Given the description of an element on the screen output the (x, y) to click on. 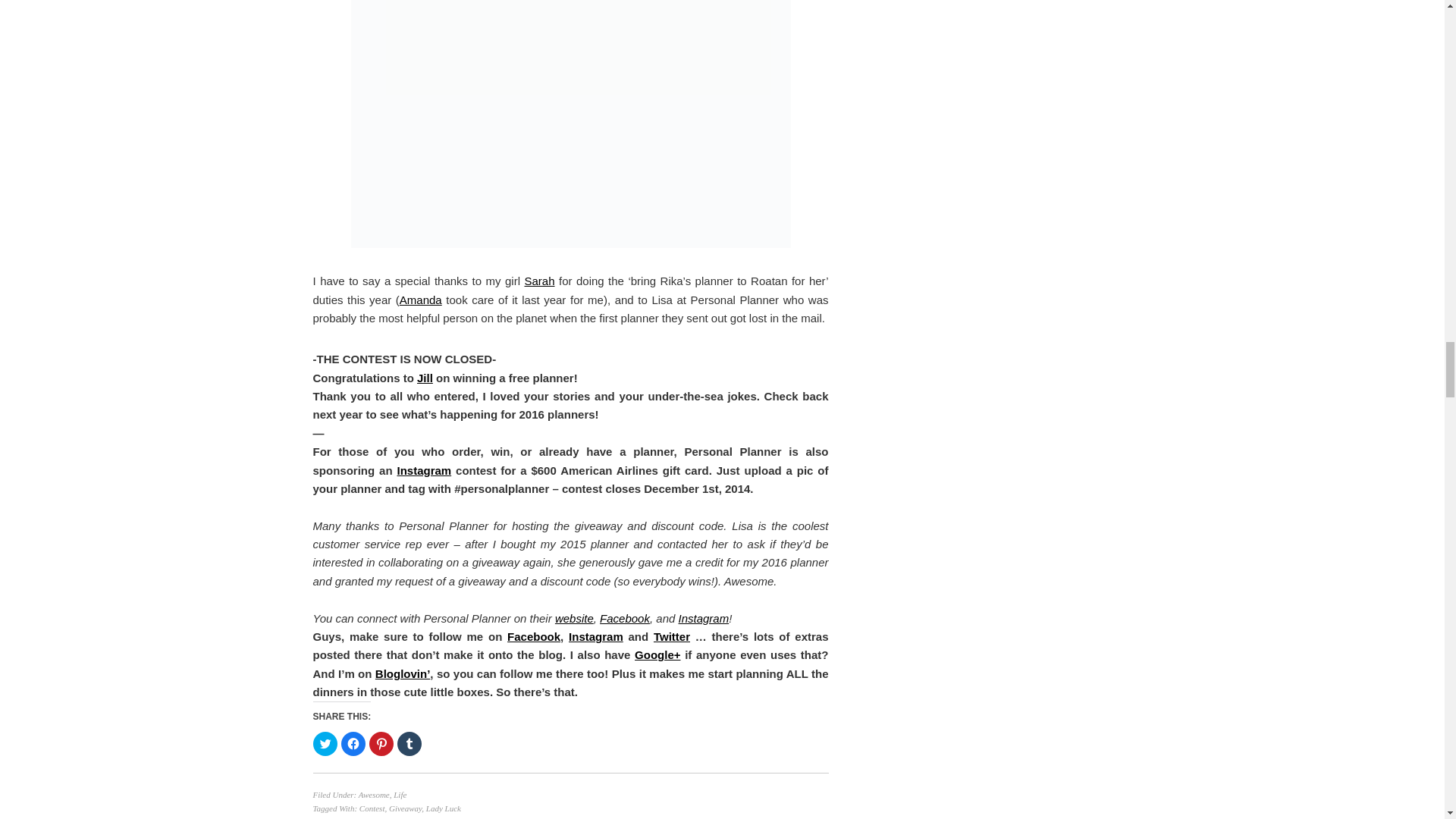
Facebook (624, 617)
Twitter (671, 635)
Sarah (539, 280)
Instagram (703, 617)
Facebook (533, 635)
Click to share on Twitter (324, 743)
Instagram (596, 635)
Amanda (420, 299)
Instagram (423, 470)
website (574, 617)
Click to share on Tumblr (409, 743)
Click to share on Pinterest (380, 743)
Jill (424, 377)
Click to share on Facebook (352, 743)
